Given the description of an element on the screen output the (x, y) to click on. 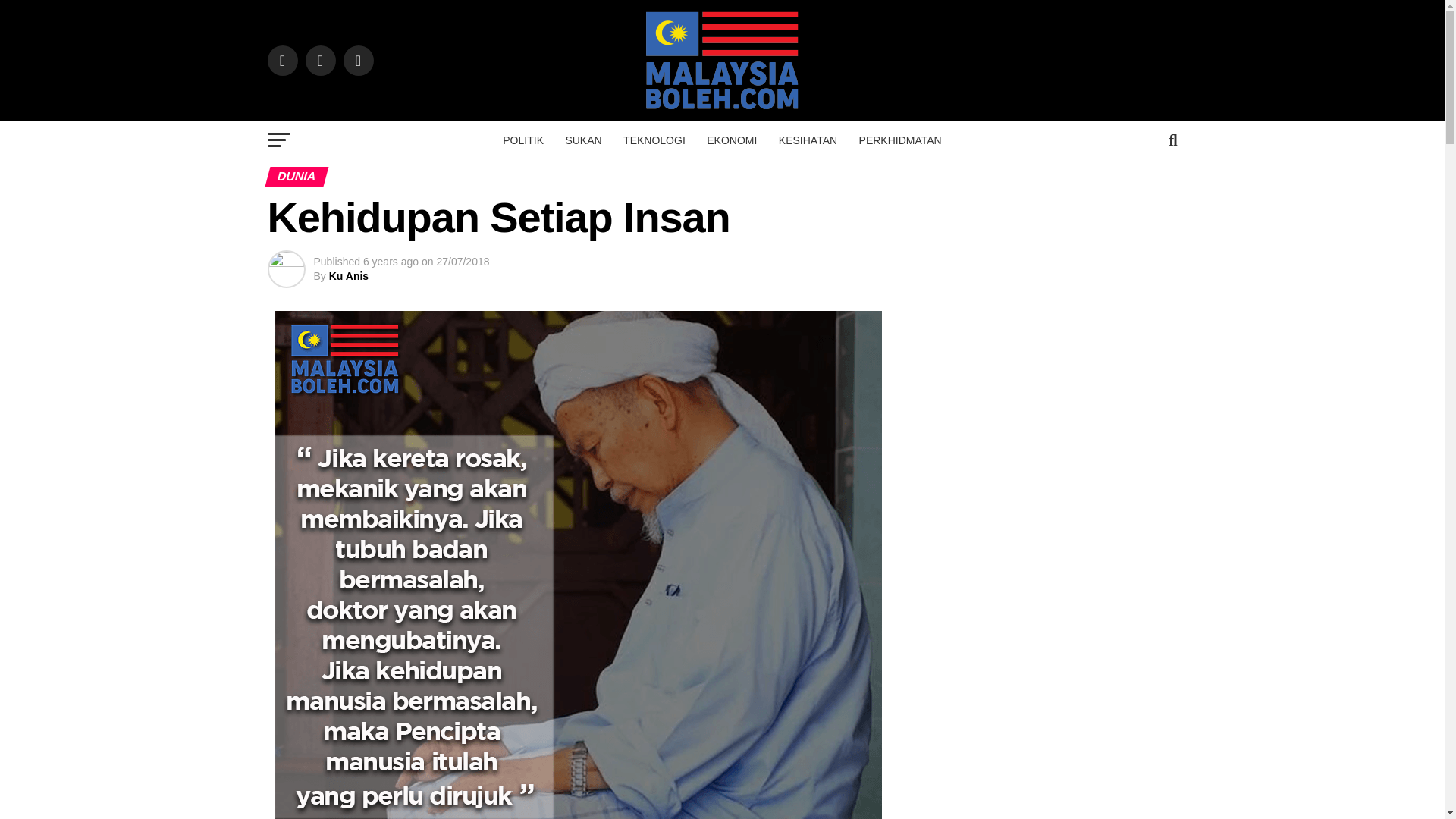
EKONOMI (731, 139)
POLITIK (523, 139)
PERKHIDMATAN (900, 139)
KESIHATAN (807, 139)
Ku Anis (348, 275)
TEKNOLOGI (654, 139)
Posts by Ku Anis (348, 275)
SUKAN (583, 139)
